Given the description of an element on the screen output the (x, y) to click on. 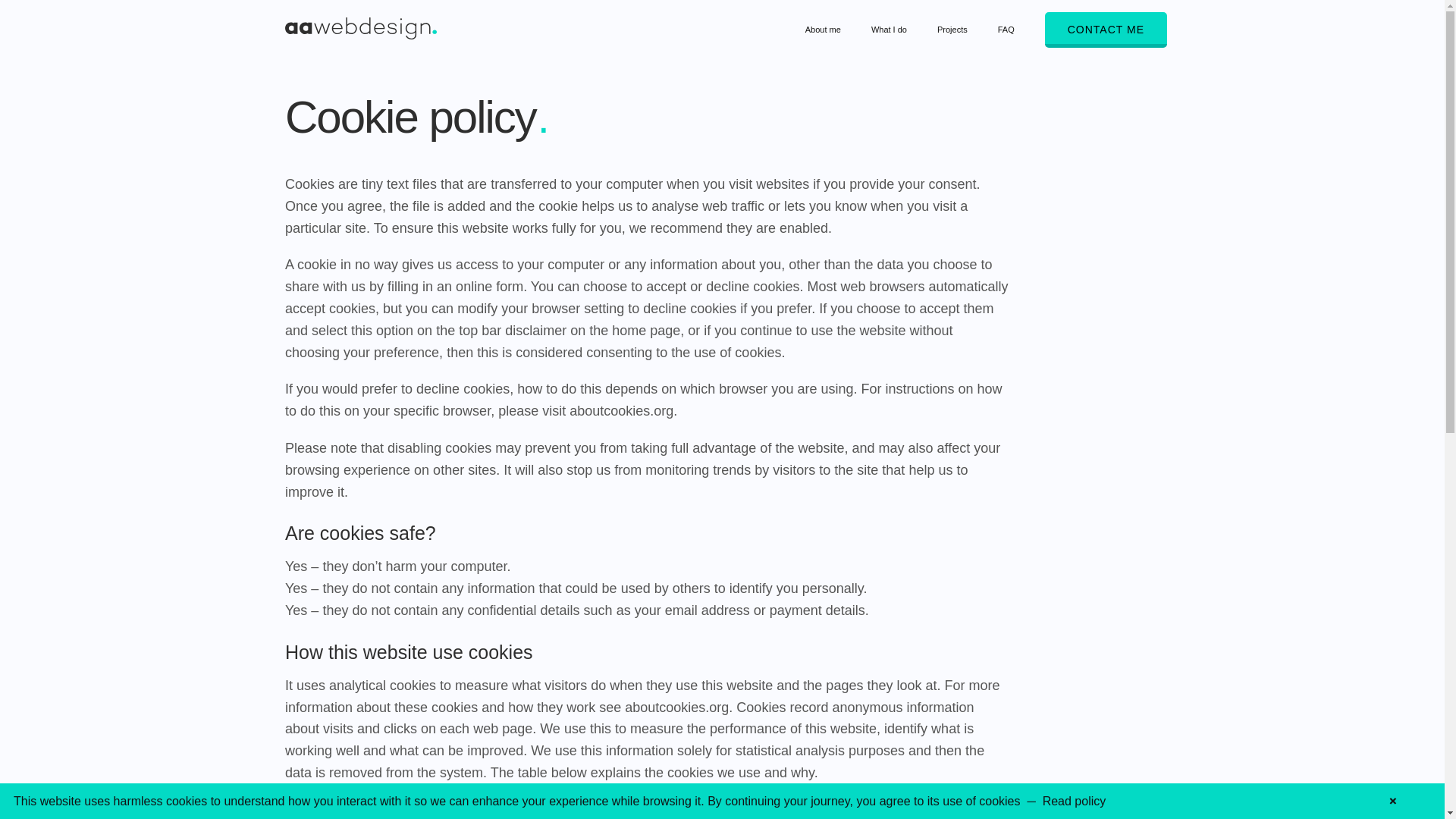
What I do (888, 30)
About me (823, 30)
aboutcookies.org (620, 410)
Projects (952, 30)
aboutcookies.org (676, 707)
Read policy (1074, 800)
CONTACT ME (1106, 29)
